Given the description of an element on the screen output the (x, y) to click on. 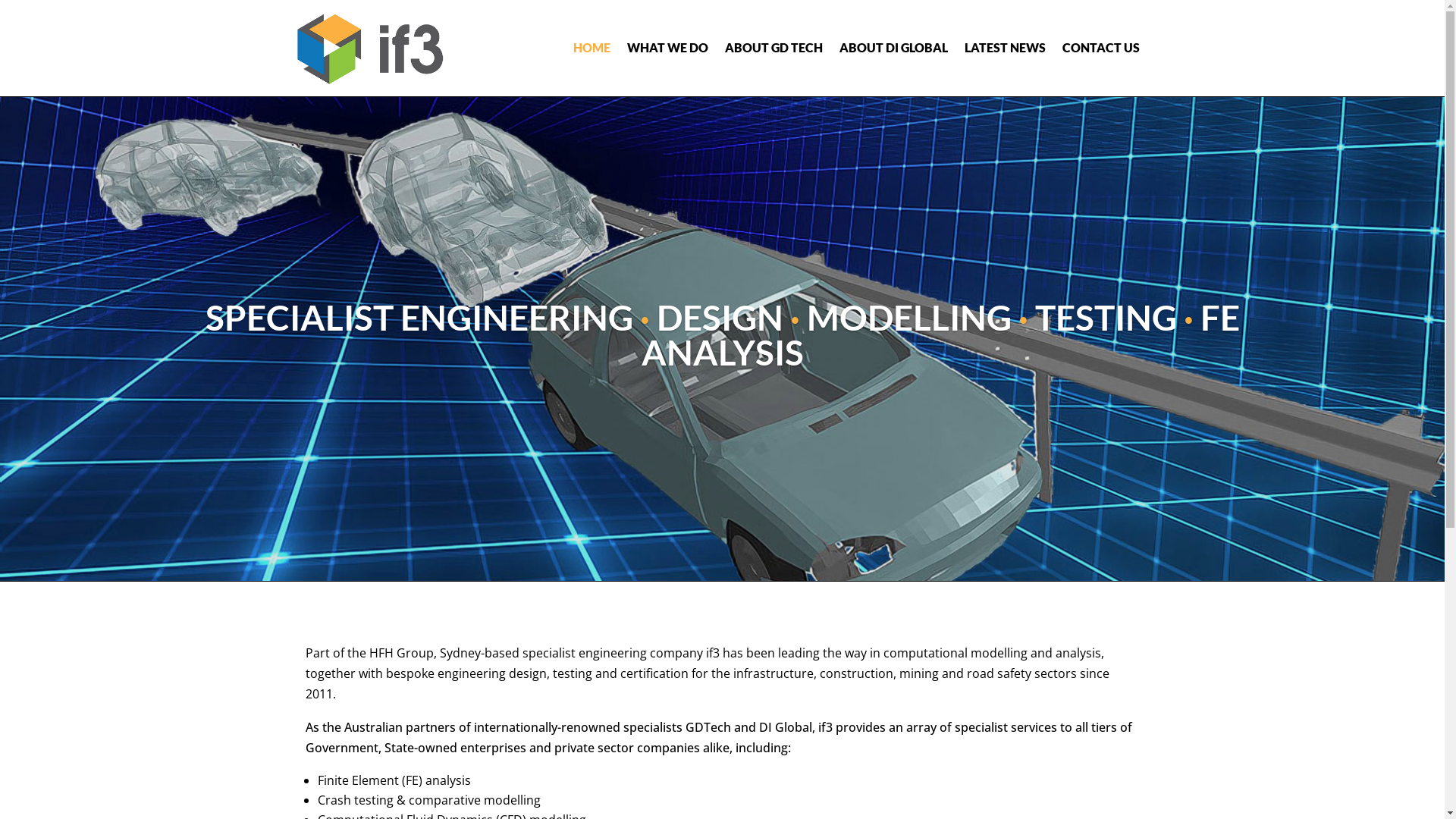
HOME Element type: text (591, 47)
ABOUT DI GLOBAL Element type: text (892, 47)
CONTACT US Element type: text (1100, 47)
WHAT WE DO Element type: text (666, 47)
ABOUT GD TECH Element type: text (773, 47)
LATEST NEWS Element type: text (1004, 47)
